Given the description of an element on the screen output the (x, y) to click on. 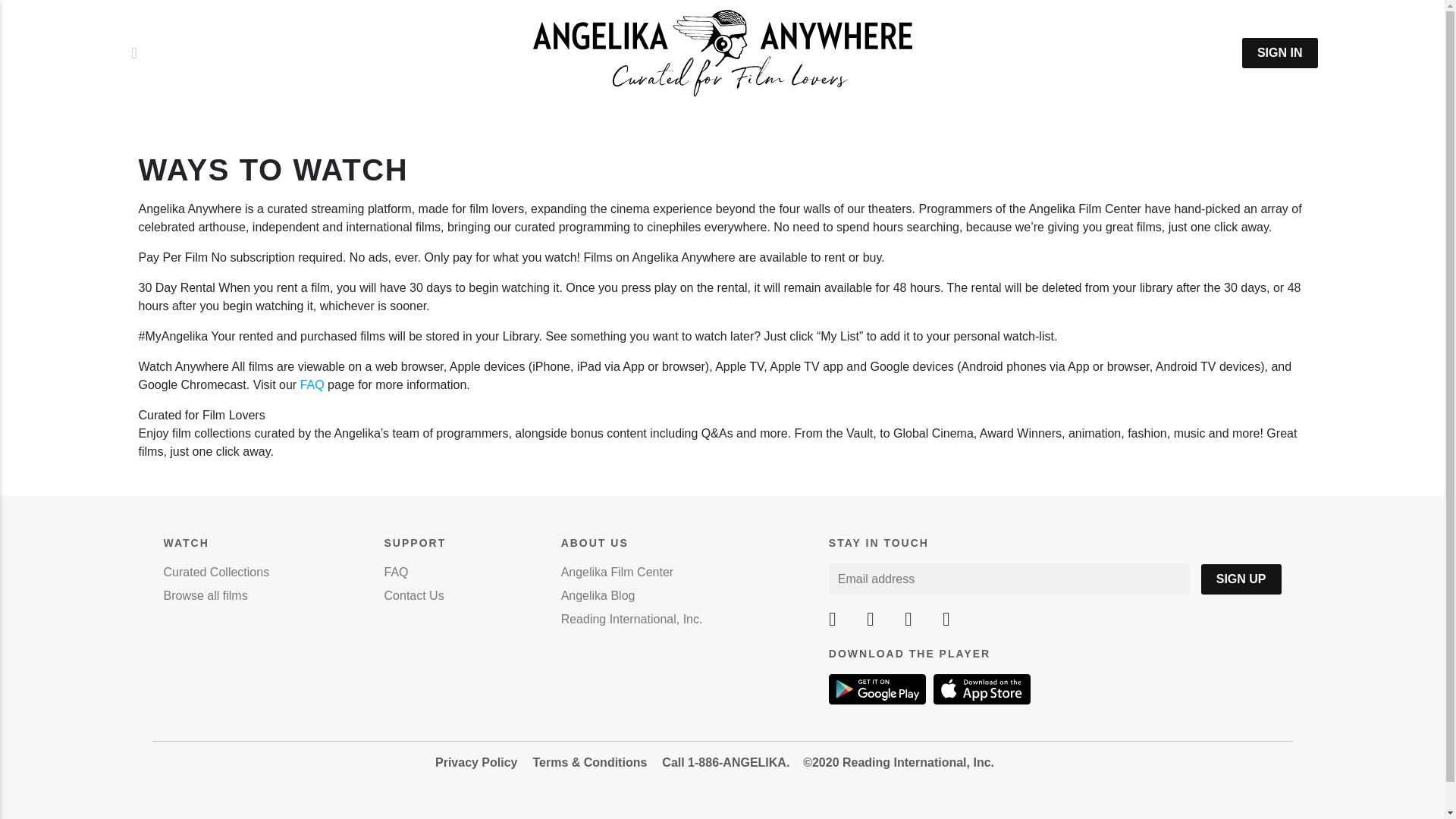
SIGN IN (1279, 52)
Contact Us (414, 594)
FAQ (396, 571)
Curated Collections (216, 571)
Shift72 (721, 52)
FAQ (311, 384)
Angelika Blog (597, 594)
Browse all films (205, 594)
Angelika Film Center (617, 571)
